Given the description of an element on the screen output the (x, y) to click on. 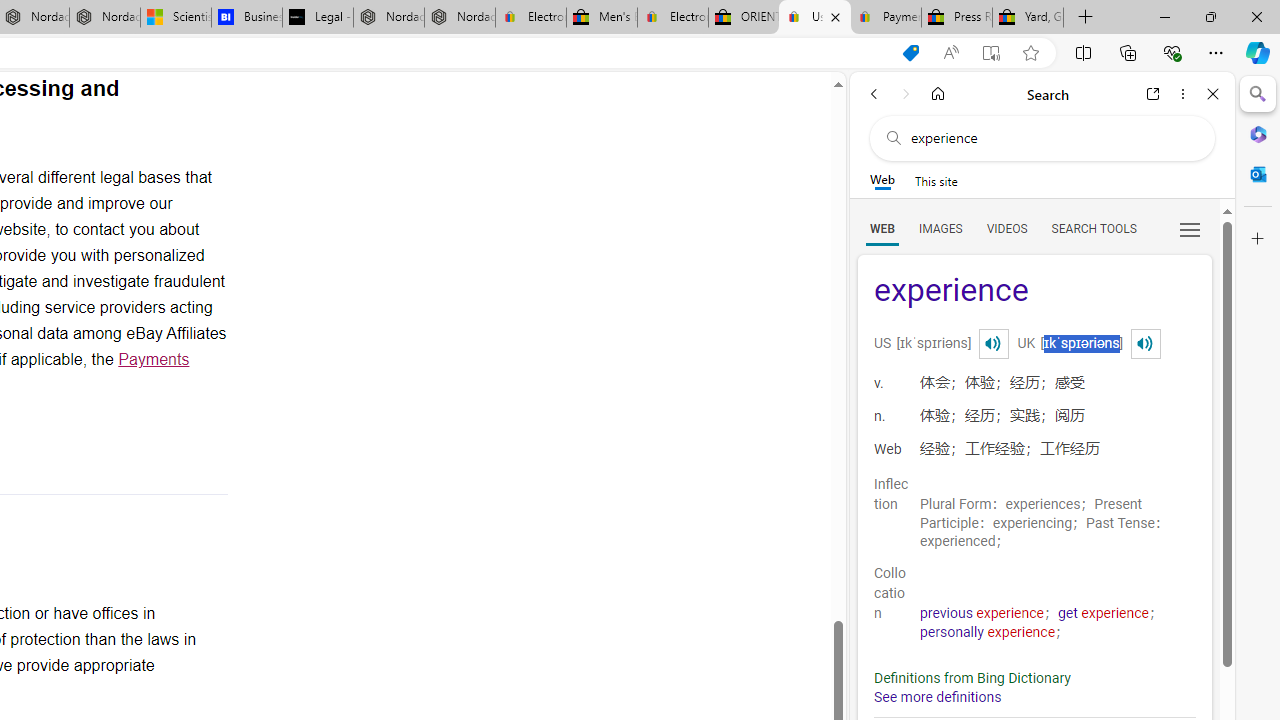
Press Room - eBay Inc. (956, 17)
WEB   (882, 228)
Open link in new tab (1153, 93)
personally experience (988, 632)
